Given the description of an element on the screen output the (x, y) to click on. 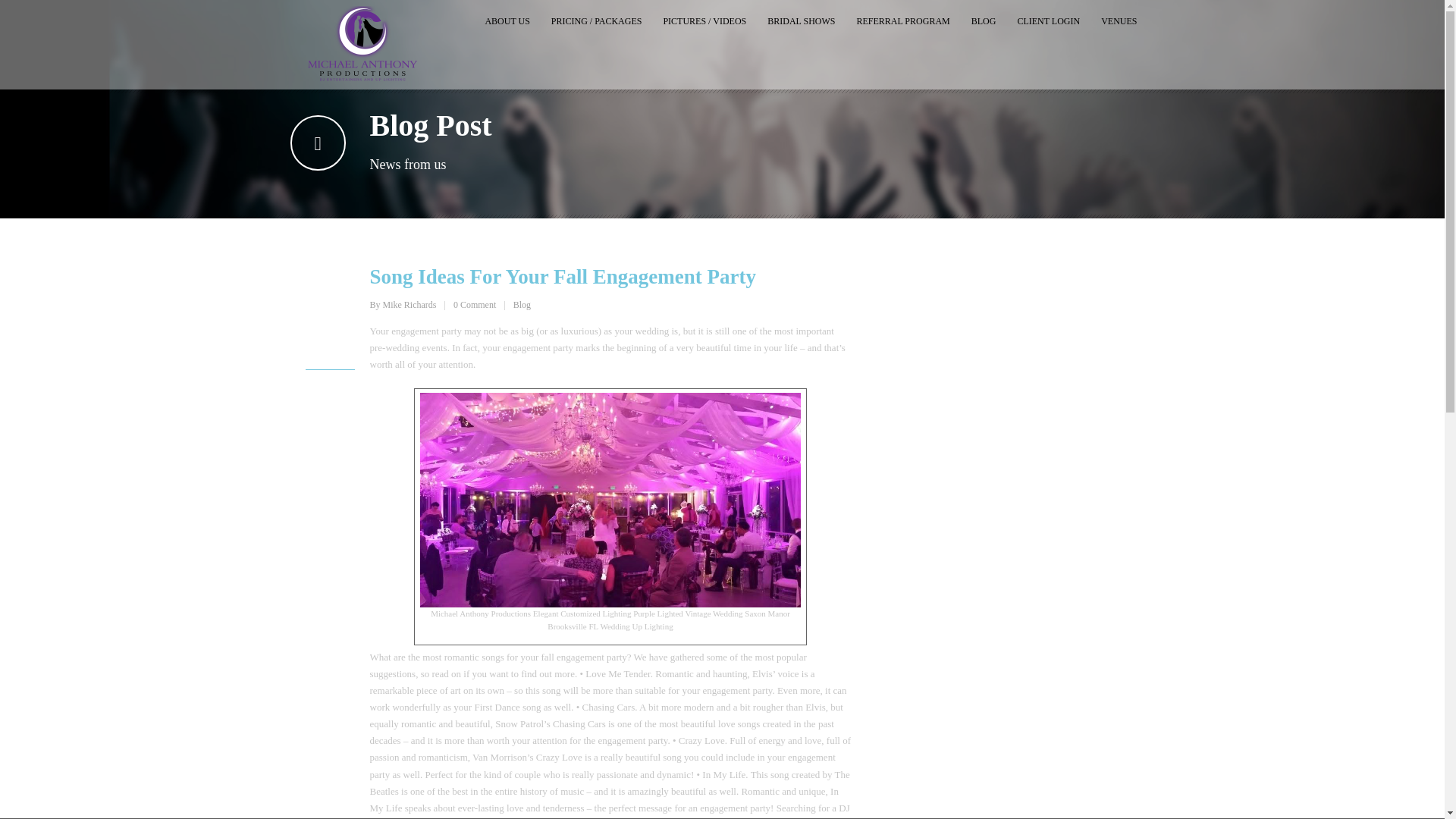
VENUES (1118, 20)
CLIENT LOGIN (1048, 20)
ABOUT US (506, 20)
Posts by Mike Richards (409, 304)
BRIDAL SHOWS (800, 20)
BLOG (984, 20)
REFERRAL PROGRAM (902, 20)
